Given the description of an element on the screen output the (x, y) to click on. 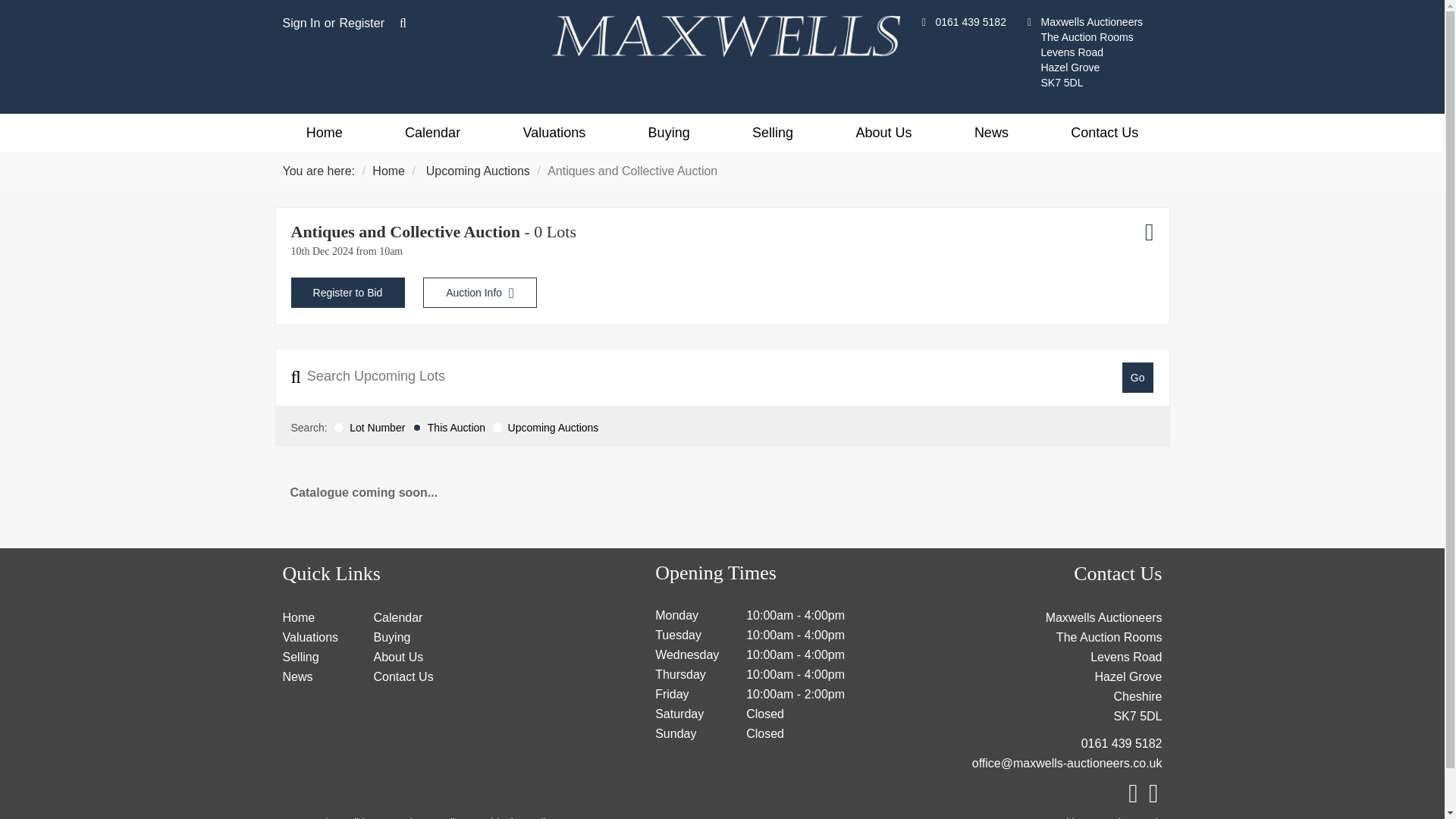
Upcoming Auctions (477, 170)
Home (388, 170)
Contact Us (1104, 132)
Buying (667, 132)
Valuations (553, 132)
Selling (772, 132)
About Us (883, 132)
News (991, 132)
Calendar (433, 132)
Auction Info (480, 292)
Go (1137, 377)
Calendar (397, 617)
Home (298, 617)
Register to Bid (347, 292)
Home (323, 132)
